Given the description of an element on the screen output the (x, y) to click on. 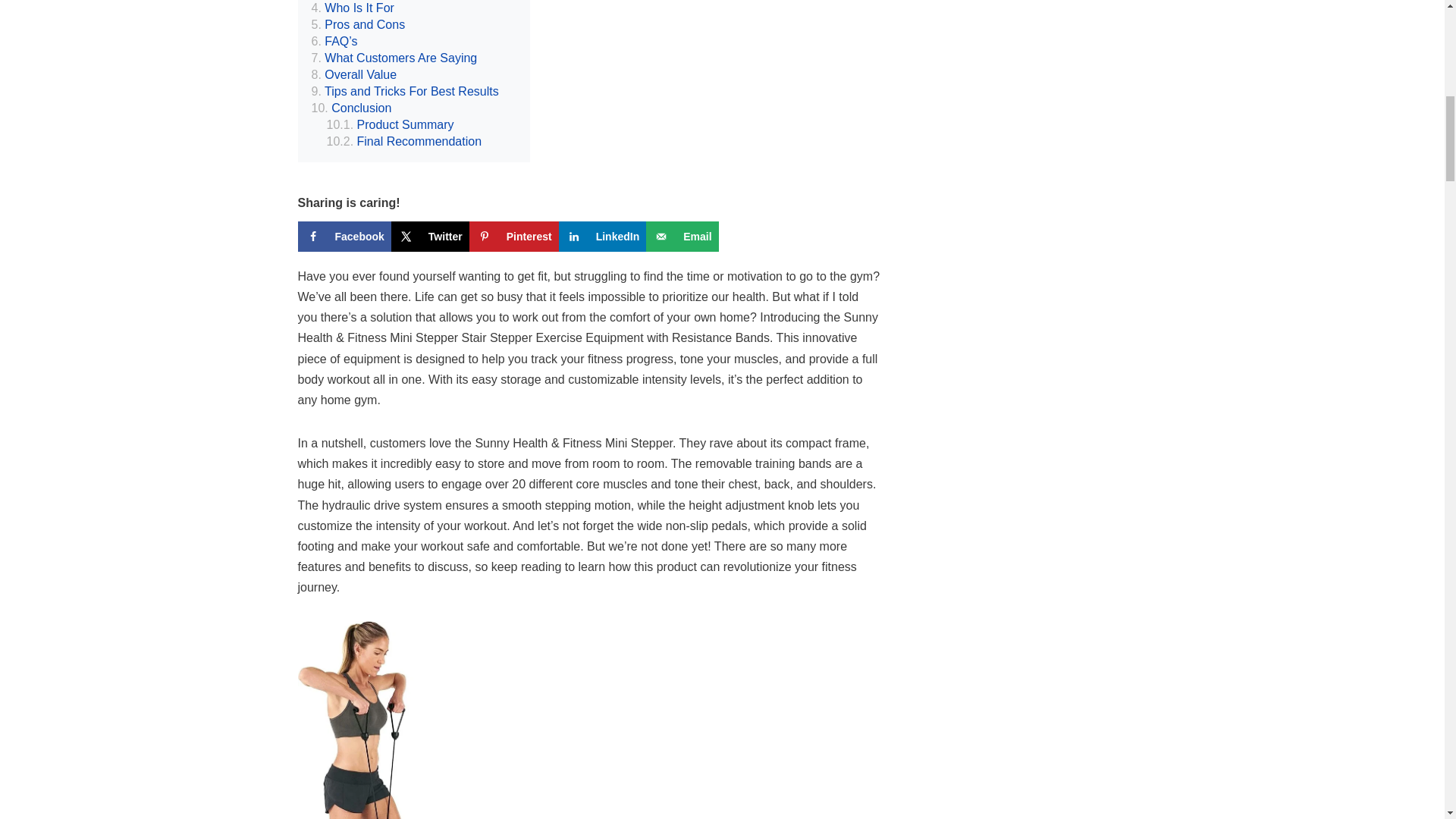
Conclusion (351, 108)
Product Summary (389, 125)
Pros and Cons (357, 24)
Overall Value (353, 74)
What Customers Are Saying (394, 57)
Final Recommendation (403, 141)
Tips and Tricks For Best Results (404, 91)
Who Is It For (352, 8)
